Given the description of an element on the screen output the (x, y) to click on. 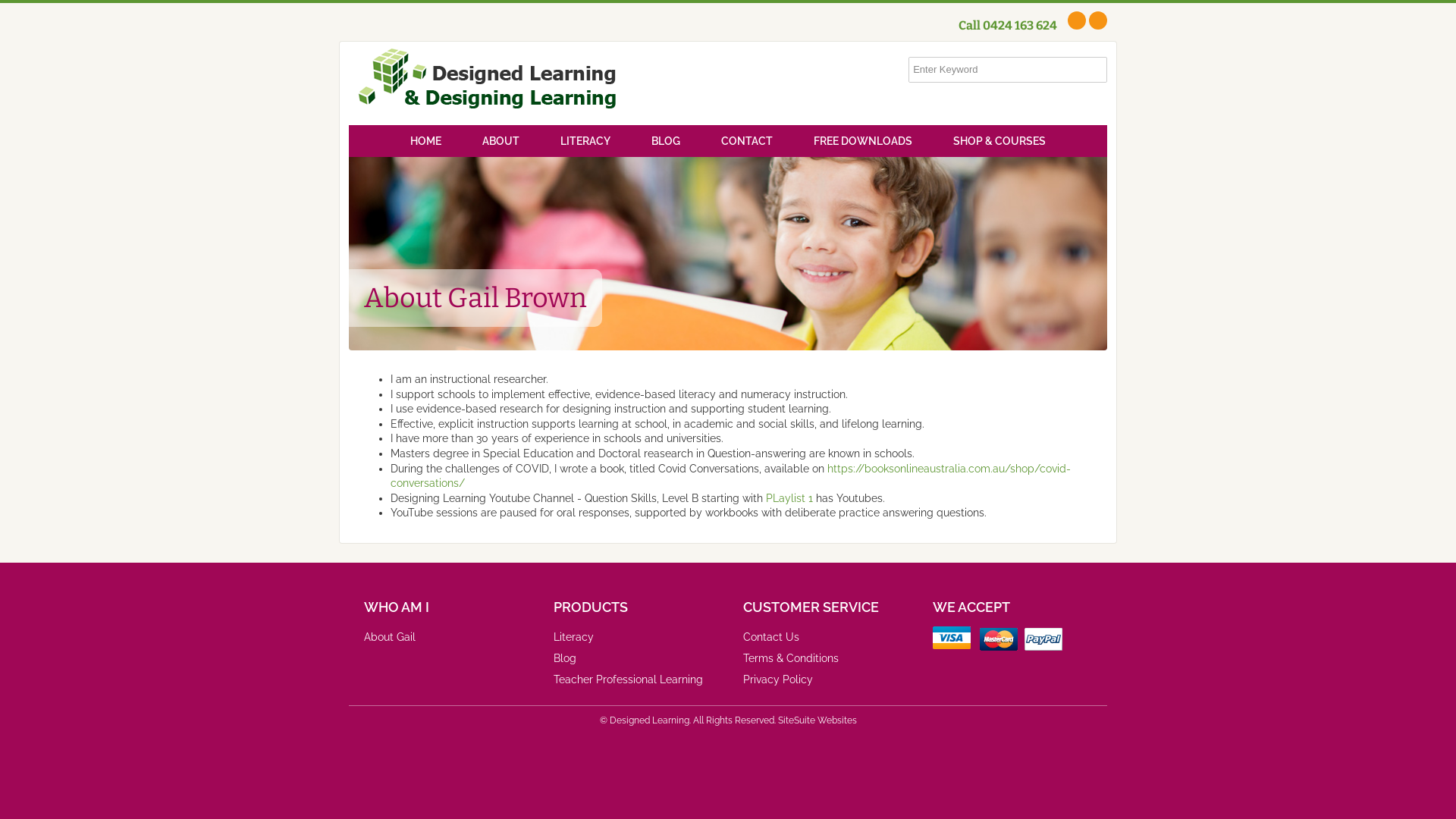
FREE DOWNLOADS Element type: text (862, 140)
ABOUT Element type: text (500, 140)
Call 0424 163 624 Element type: text (1011, 25)
Literacy Element type: text (573, 636)
CONTACT Element type: text (746, 140)
BLOG Element type: text (665, 140)
Teacher Professional Learning Element type: text (627, 679)
SiteSuite Element type: text (796, 720)
Designed Learning & Designing Learning Element type: hover (487, 83)
LITERACY Element type: text (585, 140)
About Gail Element type: text (389, 636)
PLaylist 1 Element type: text (788, 498)
Contact Us Element type: text (771, 636)
Blog Element type: text (564, 658)
HOME Element type: text (425, 140)
SHOP & COURSES Element type: text (999, 140)
